Given the description of an element on the screen output the (x, y) to click on. 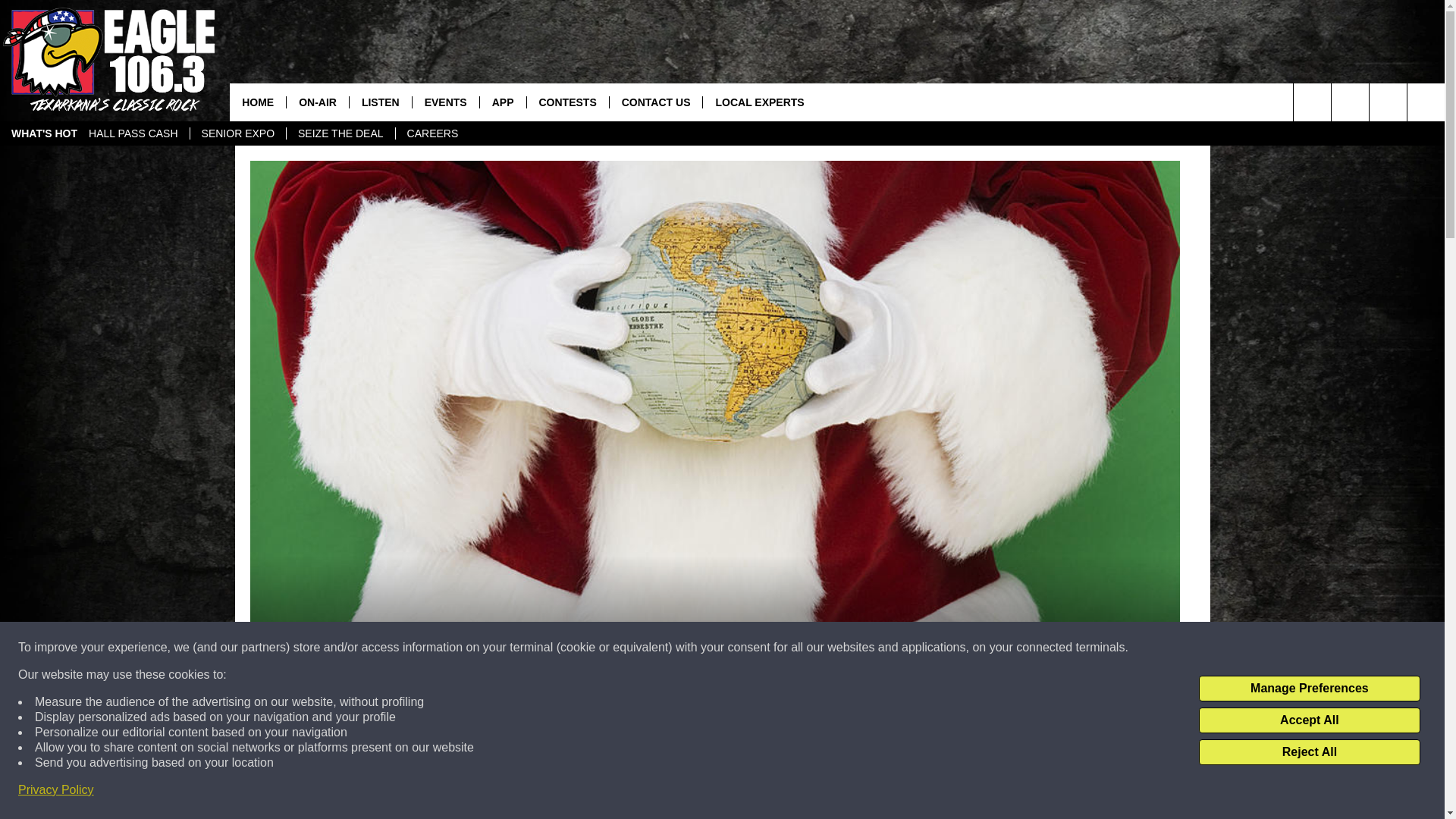
Share on Facebook (517, 791)
Share on Twitter (912, 791)
Manage Preferences (1309, 688)
HOME (257, 102)
HALL PASS CASH (133, 133)
EVENTS (445, 102)
Privacy Policy (55, 789)
ON-AIR (317, 102)
SENIOR EXPO (237, 133)
CAREERS (432, 133)
Reject All (1309, 751)
APP (502, 102)
SEIZE THE DEAL (339, 133)
CONTESTS (566, 102)
LOCAL EXPERTS (758, 102)
